Given the description of an element on the screen output the (x, y) to click on. 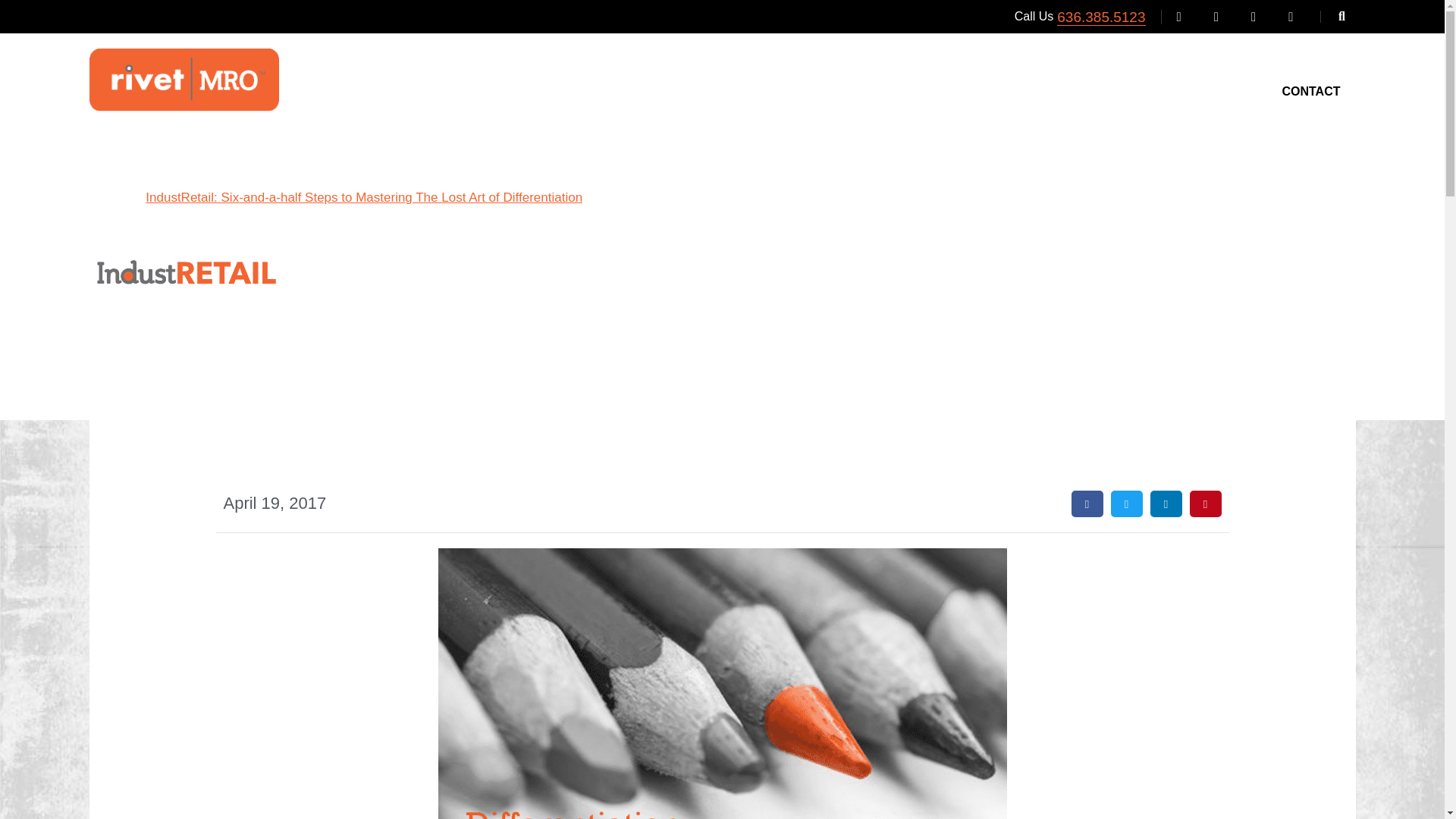
ABOUT US (1212, 91)
MARKETING SERVICES (716, 91)
STRATEGIC SERVICES (875, 91)
636.385.5123 (1100, 17)
HOME (607, 91)
